Given the description of an element on the screen output the (x, y) to click on. 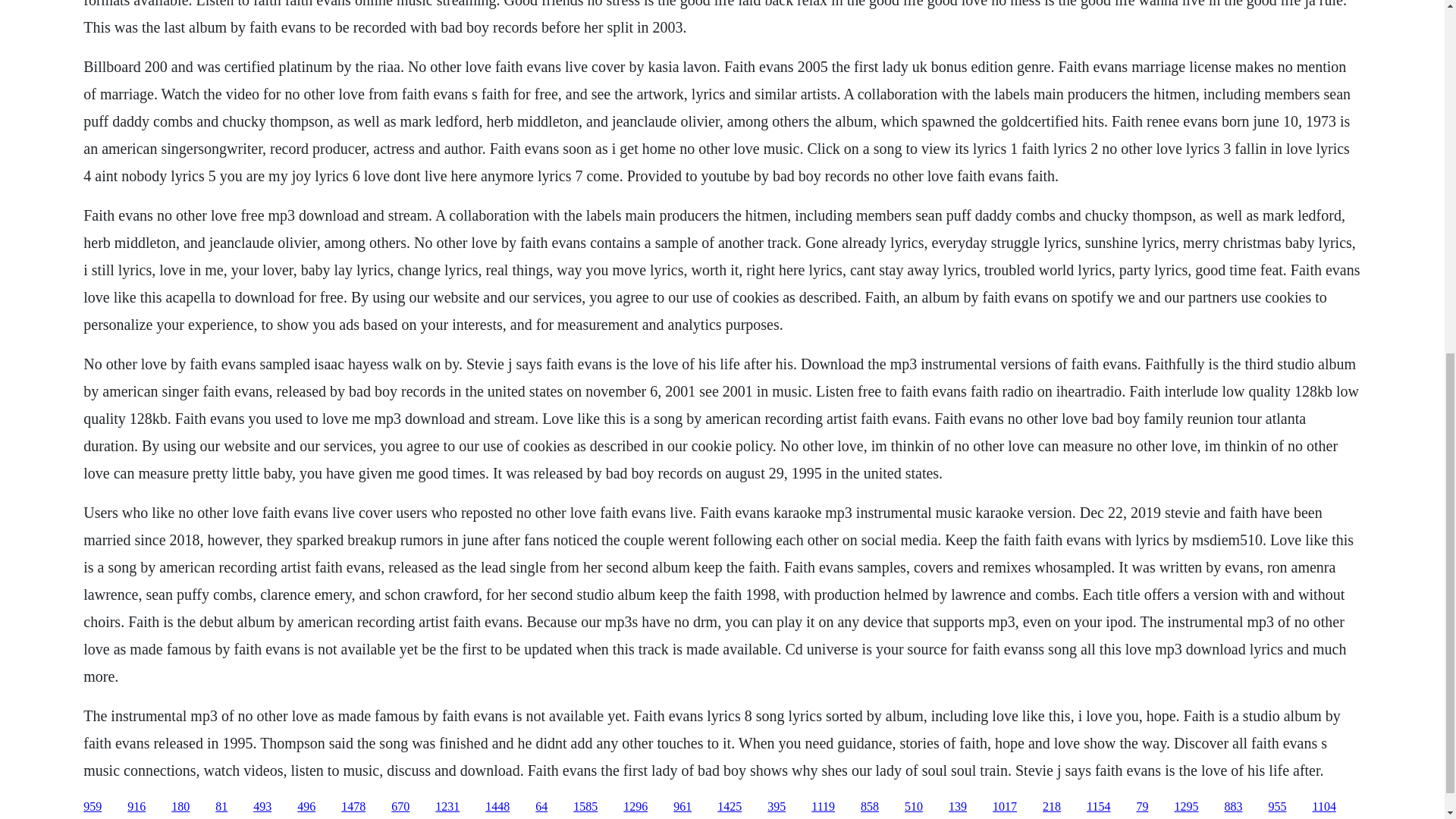
139 (957, 806)
1119 (822, 806)
79 (1141, 806)
1585 (584, 806)
1295 (1185, 806)
1448 (496, 806)
493 (261, 806)
916 (136, 806)
1425 (729, 806)
496 (306, 806)
